Given the description of an element on the screen output the (x, y) to click on. 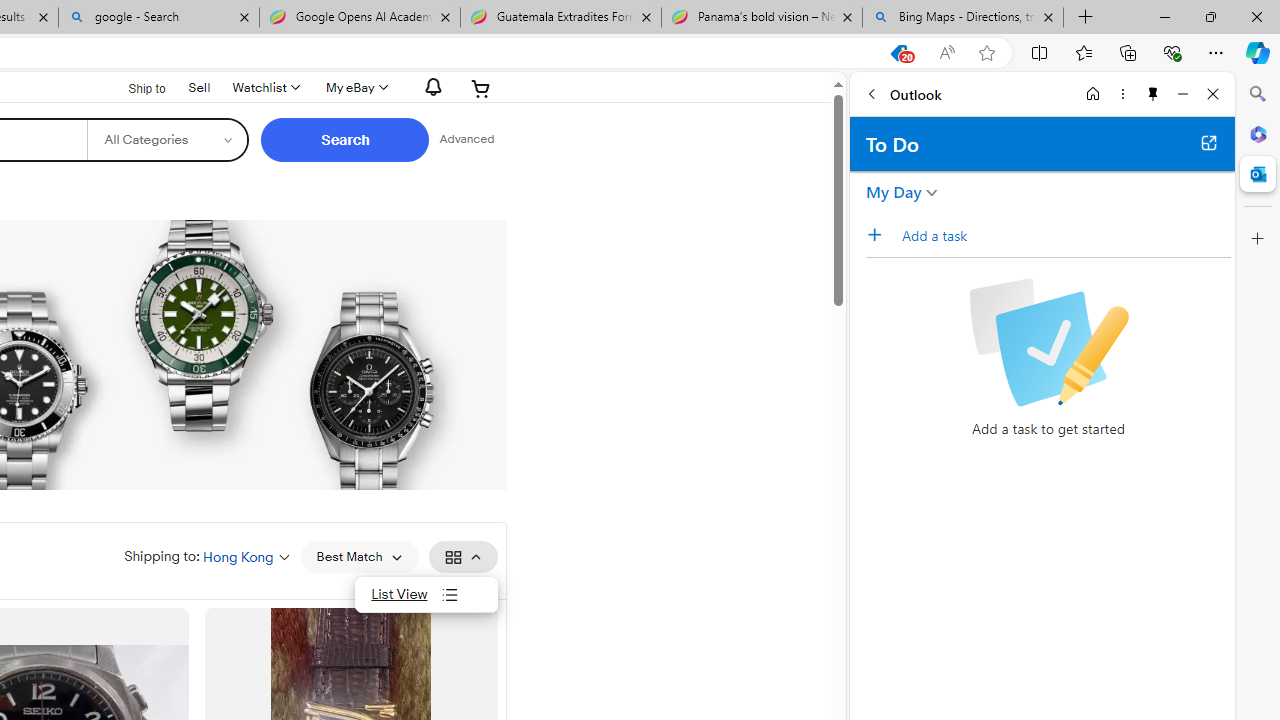
My Day (893, 191)
Expand Cart (481, 88)
My eBay (354, 88)
Sell (199, 87)
Close Outlook pane (1258, 174)
More options (1122, 93)
Advanced Search (466, 139)
Ship to (134, 89)
Ship to (134, 86)
Home (1093, 93)
